Given the description of an element on the screen output the (x, y) to click on. 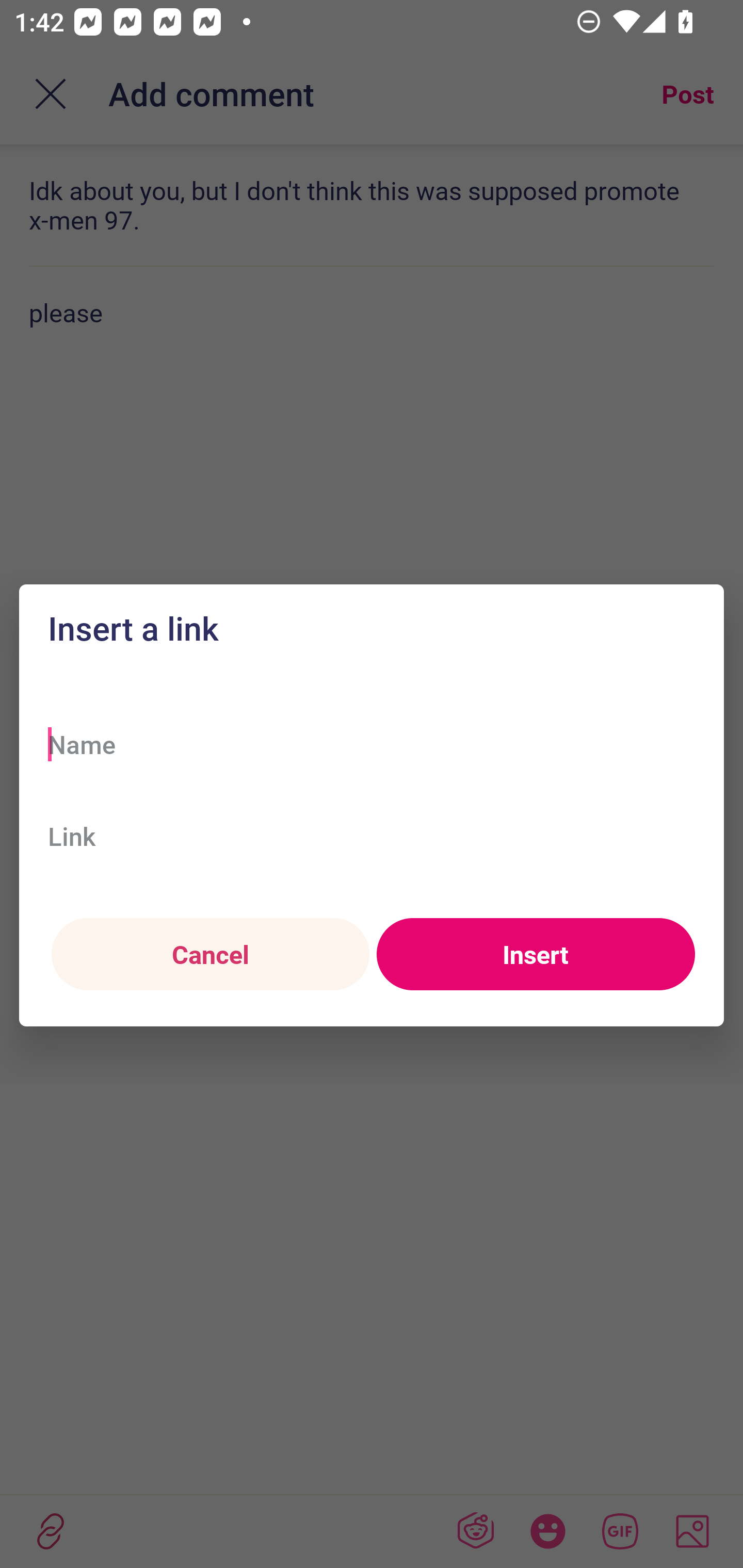
Name (371, 743)
Link (371, 835)
Cancel (210, 954)
Insert (535, 954)
